Given the description of an element on the screen output the (x, y) to click on. 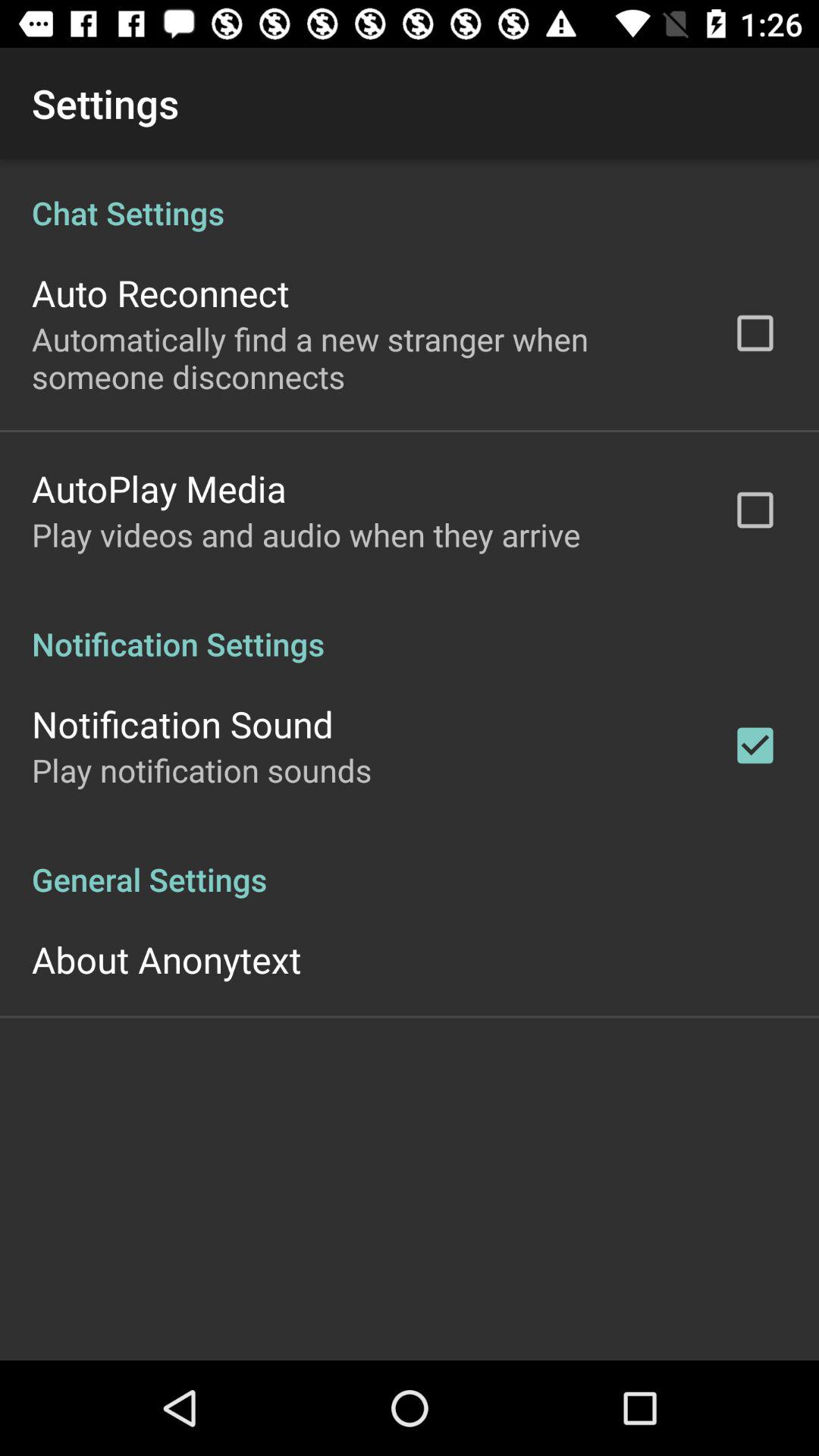
jump until automatically find a icon (361, 357)
